Given the description of an element on the screen output the (x, y) to click on. 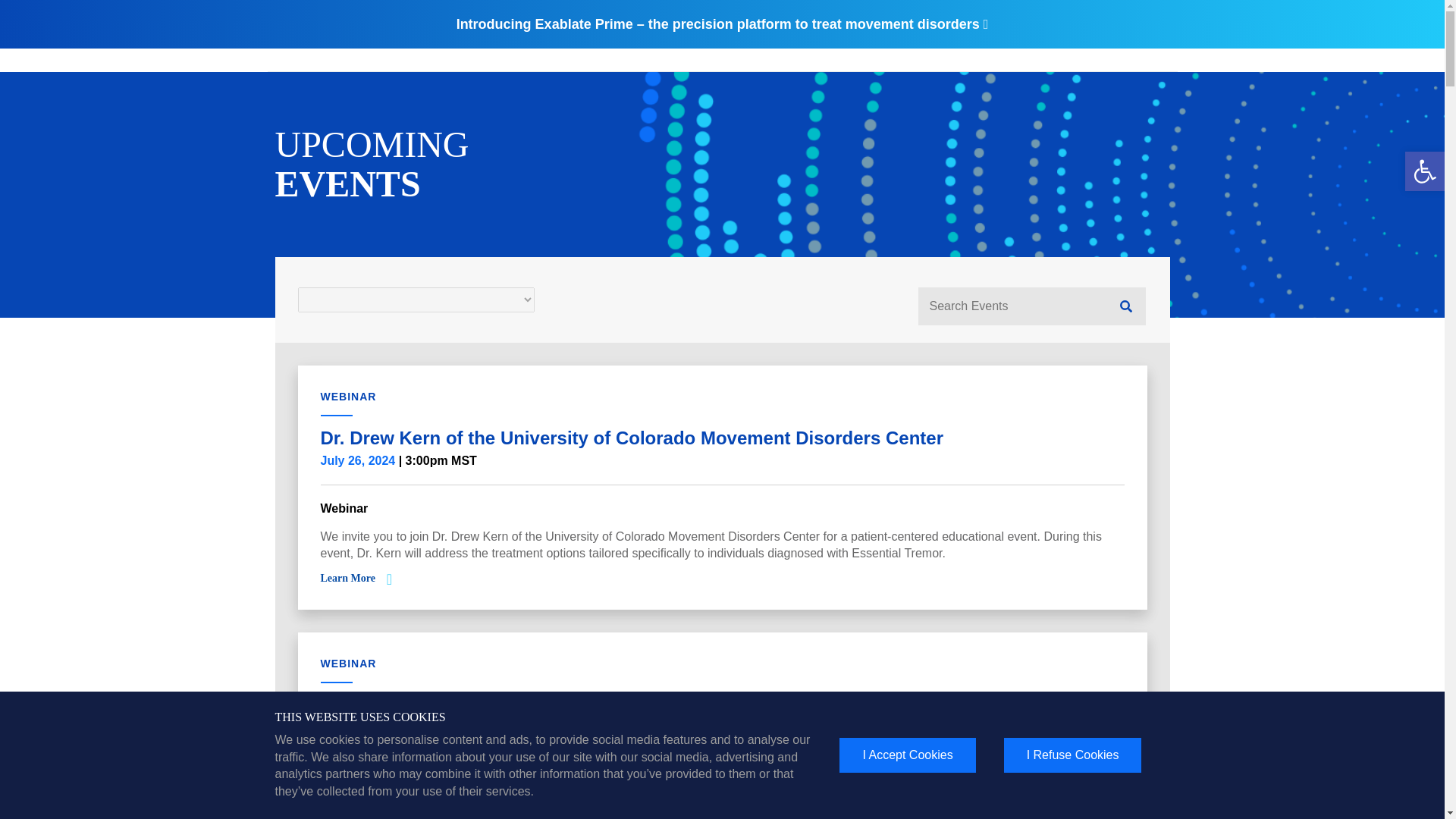
CAREERS (1145, 43)
HEALTHCARE PROFESSIONALS (639, 43)
I Accept Cookies (907, 755)
Learn More (347, 577)
Bigger Text (1126, 21)
PATIENTS (774, 43)
EVENTS (997, 43)
Accessibility Tools (1424, 170)
Contact (1148, 21)
I Refuse Cookies (1072, 755)
ABOUT US (1072, 43)
TREATMENT CENTERS (887, 43)
